Given the description of an element on the screen output the (x, y) to click on. 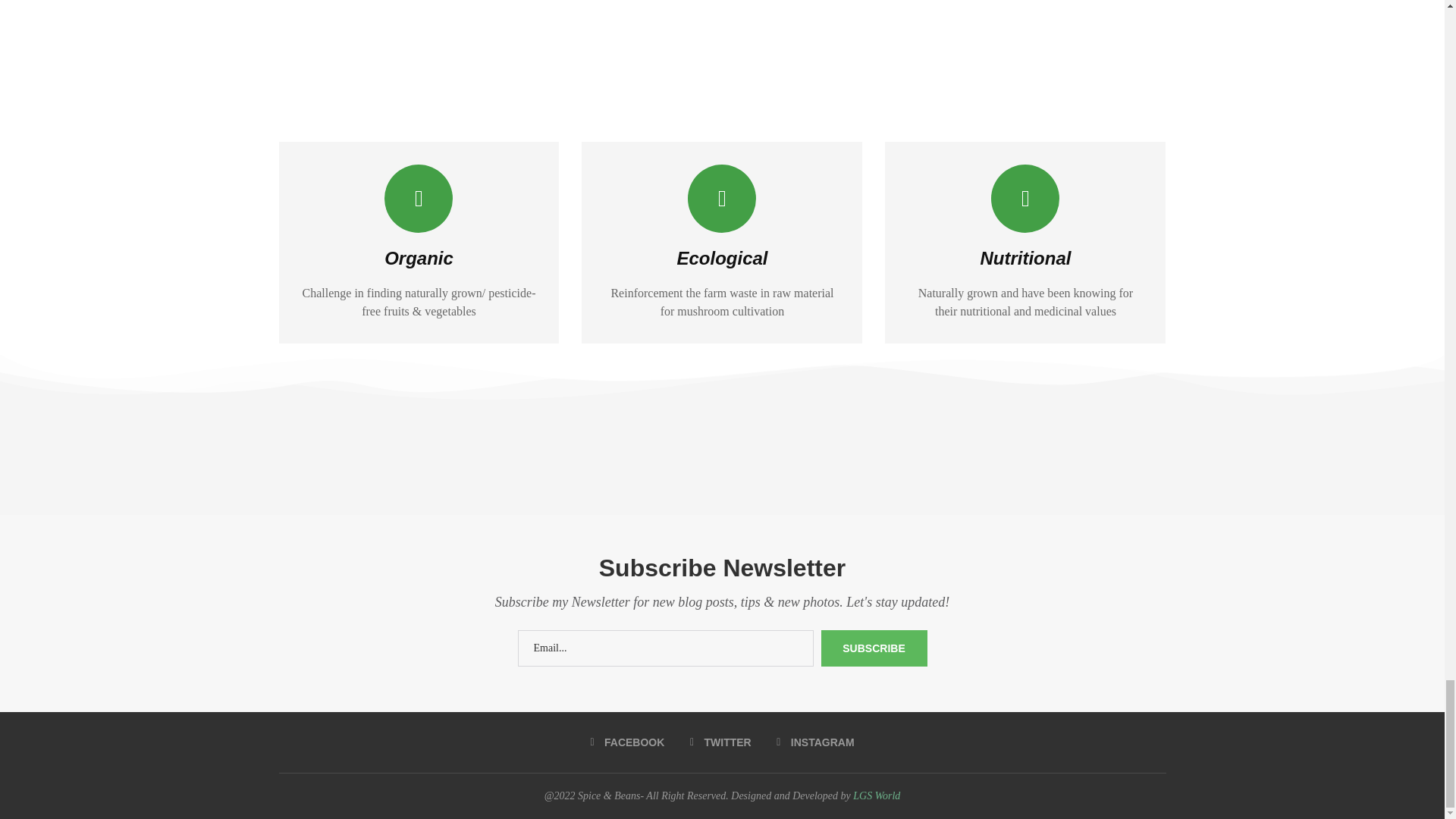
Subscribe (873, 647)
